Given the description of an element on the screen output the (x, y) to click on. 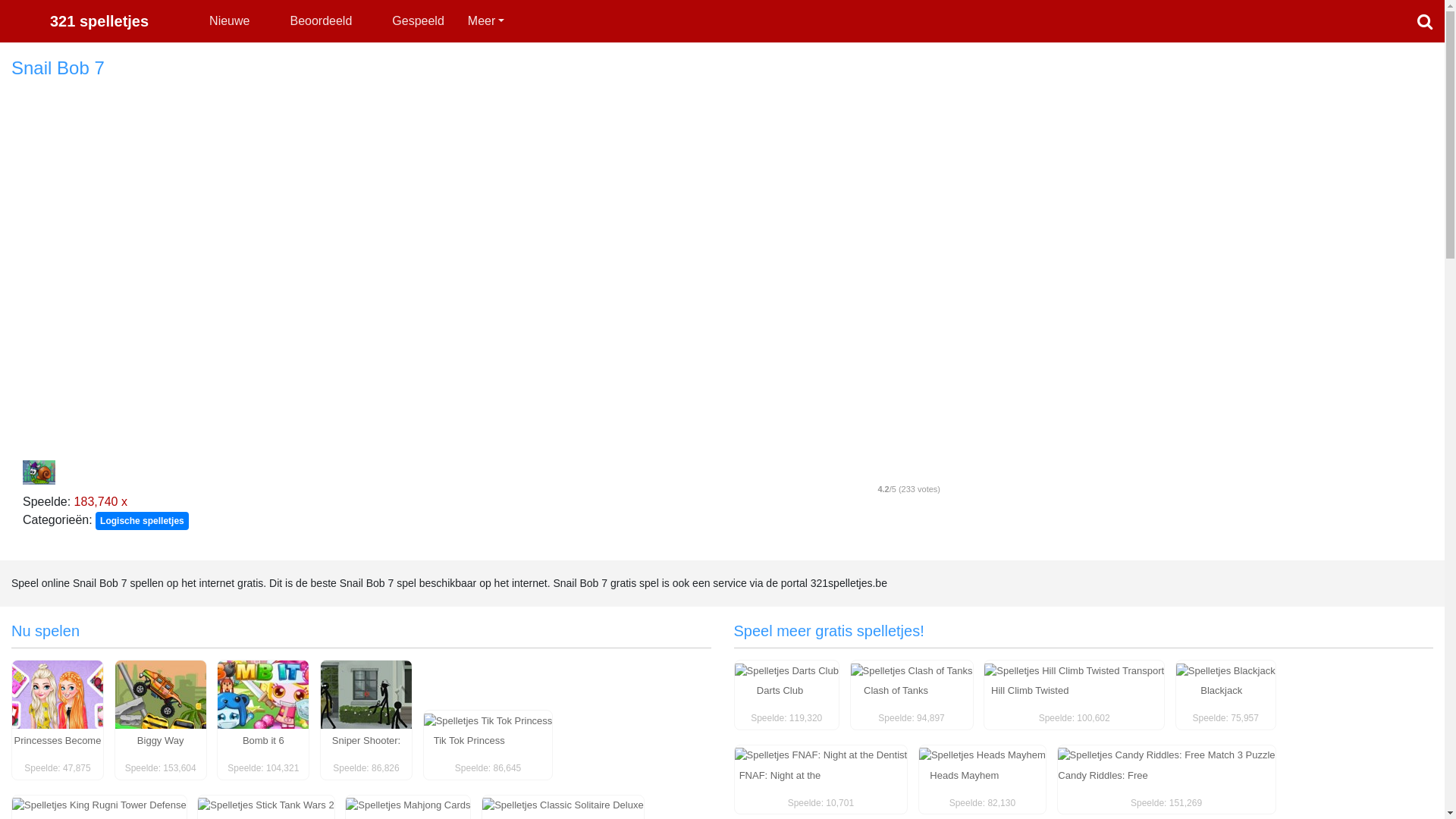
Tik Tok Princess Element type: hover (487, 719)
5 Element type: text (928, 471)
Biggy Way Element type: text (160, 740)
Darts Club Element type: hover (785, 669)
Sniper Shooter: Stickman Killing Game Element type: text (366, 758)
Advertisement Element type: hover (1203, 284)
King Rugni Tower Defense Element type: hover (99, 804)
3 Element type: text (883, 471)
2 Element type: text (860, 471)
Tik Tok Princess Element type: text (469, 740)
Heads Mayhem Element type: hover (982, 754)
4 Element type: text (905, 471)
Mahjong Cards Element type: hover (407, 804)
Darts Club Element type: text (779, 690)
Nieuwe Element type: text (229, 21)
Meer Element type: text (486, 21)
Stick Tank Wars 2 Element type: hover (265, 804)
FNAF: Night at the Dentist Element type: text (780, 784)
Gespeeld Element type: text (417, 21)
Hill Climb Twisted Transport Element type: hover (1074, 669)
Princesses Become Popular In School Element type: text (57, 749)
Sniper Shooter: Stickman Killing Game Element type: hover (365, 693)
Candy Riddles: Free Match 3 Puzzle Element type: hover (1166, 754)
Blackjack Element type: text (1221, 690)
Blackjack Element type: hover (1225, 669)
FNAF: Night at the Dentist Element type: hover (820, 754)
Clash of Tanks Element type: text (895, 690)
Bomb it 6 Element type: text (263, 740)
Bomb it 6 Element type: hover (262, 693)
Beoordeeld Element type: text (320, 21)
1 Element type: text (837, 471)
Biggy Way Element type: hover (160, 693)
321 spelletjes Element type: text (80, 21)
Clash of Tanks Element type: hover (911, 669)
Princesses Become Popular In School Element type: hover (57, 693)
Hill Climb Twisted Transport Element type: text (1029, 699)
Classic Solitaire Deluxe Element type: hover (562, 804)
Heads Mayhem Element type: text (963, 775)
Candy Riddles: Free Match 3 Puzzle Element type: text (1102, 784)
Logische spelletjes Element type: text (141, 520)
